Given the description of an element on the screen output the (x, y) to click on. 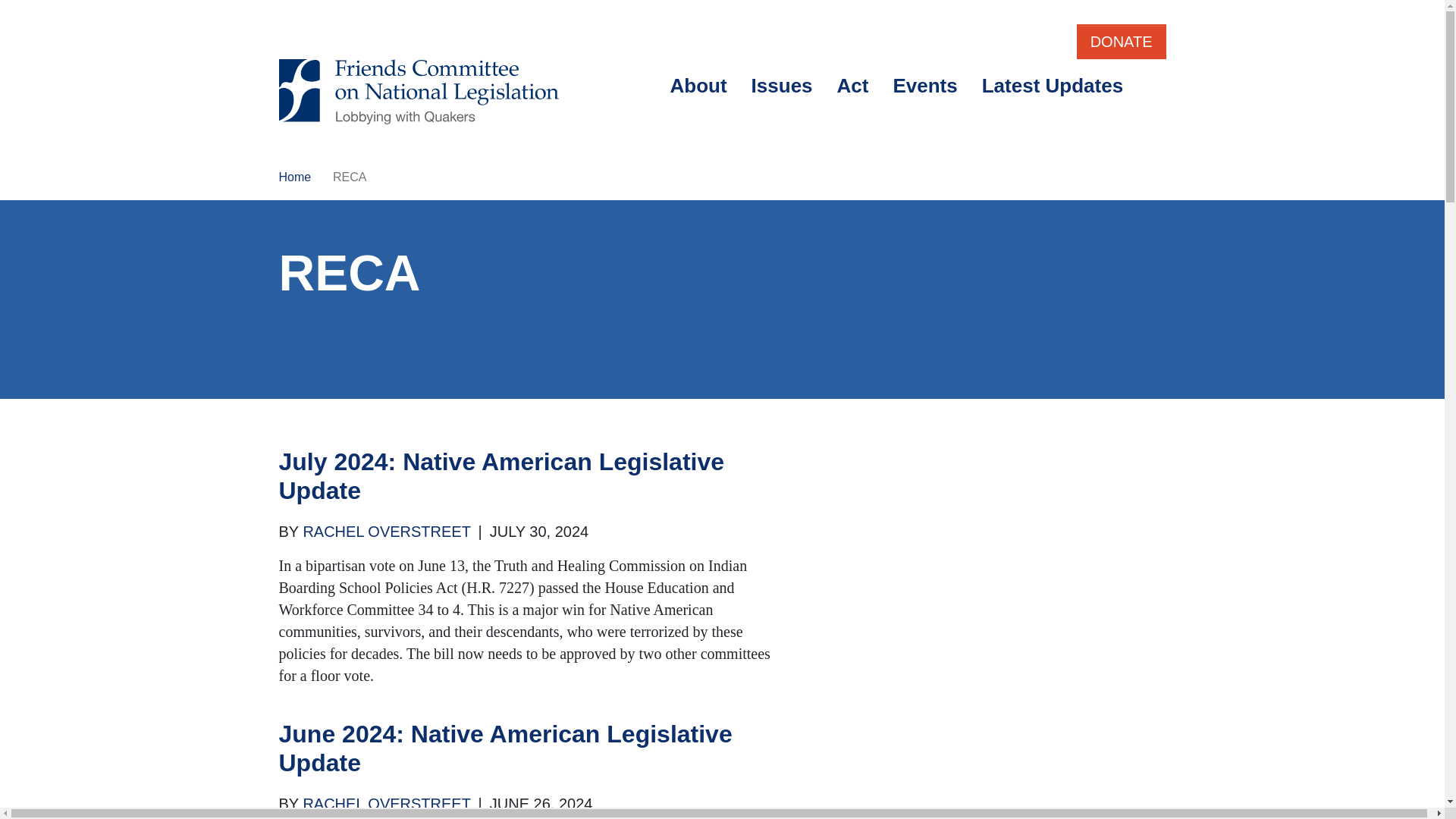
Wednesday, June 26, 2024 - 15:40 (540, 803)
Tuesday, July 30, 2024 - 10:48 (538, 531)
Latest Updates (1052, 86)
Act (852, 86)
Events (924, 86)
About (698, 86)
Issues (782, 86)
